Given the description of an element on the screen output the (x, y) to click on. 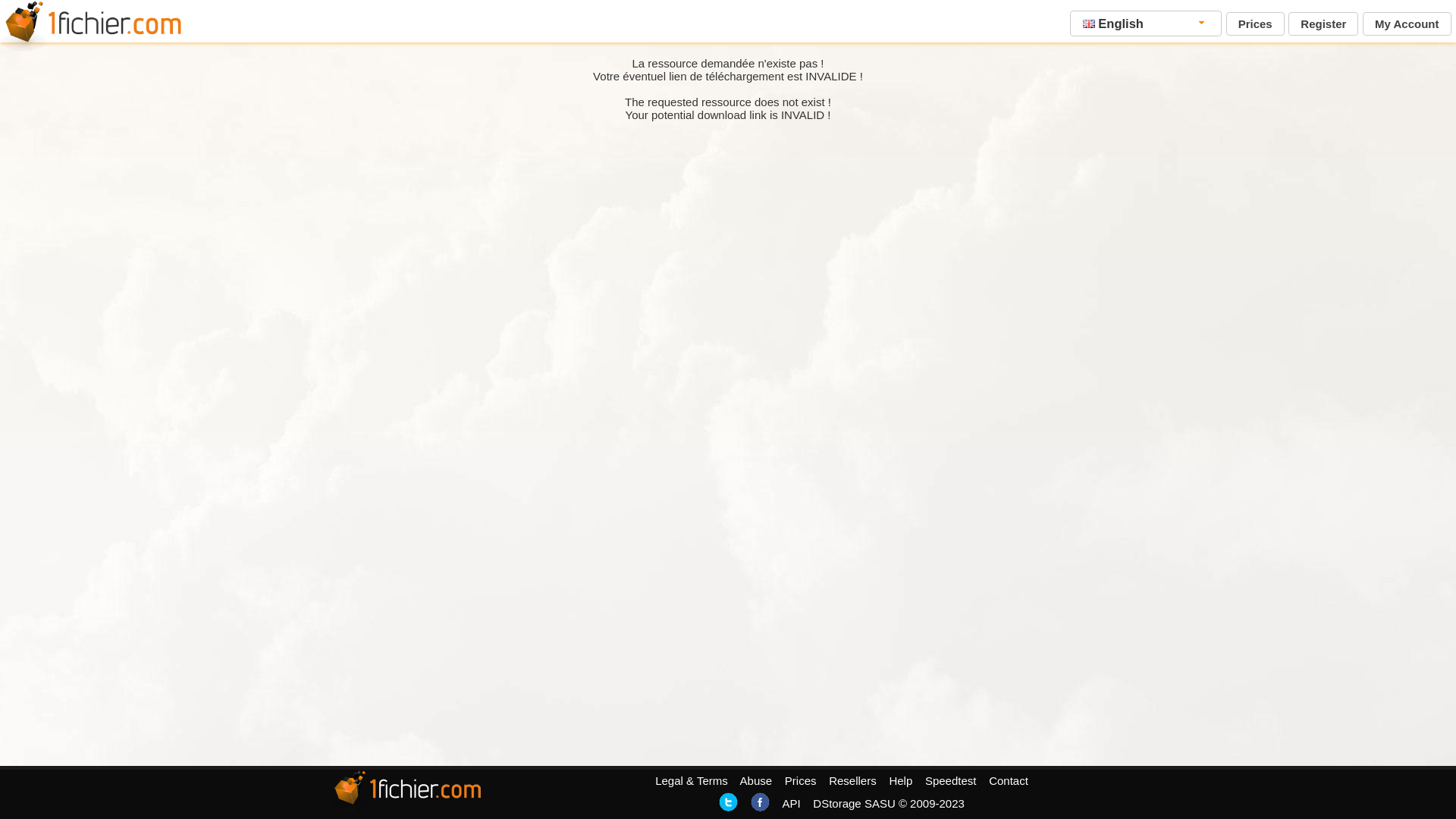
Prices Element type: text (800, 780)
Help Element type: text (900, 780)
Prices Element type: text (1255, 23)
Abuse Element type: text (756, 780)
Legal & Terms Element type: text (691, 780)
Register Element type: text (1323, 23)
Speedtest Element type: text (950, 780)
Contact Element type: text (1008, 780)
My Account Element type: text (1406, 23)
Resellers Element type: text (852, 780)
API Element type: text (790, 803)
